Given the description of an element on the screen output the (x, y) to click on. 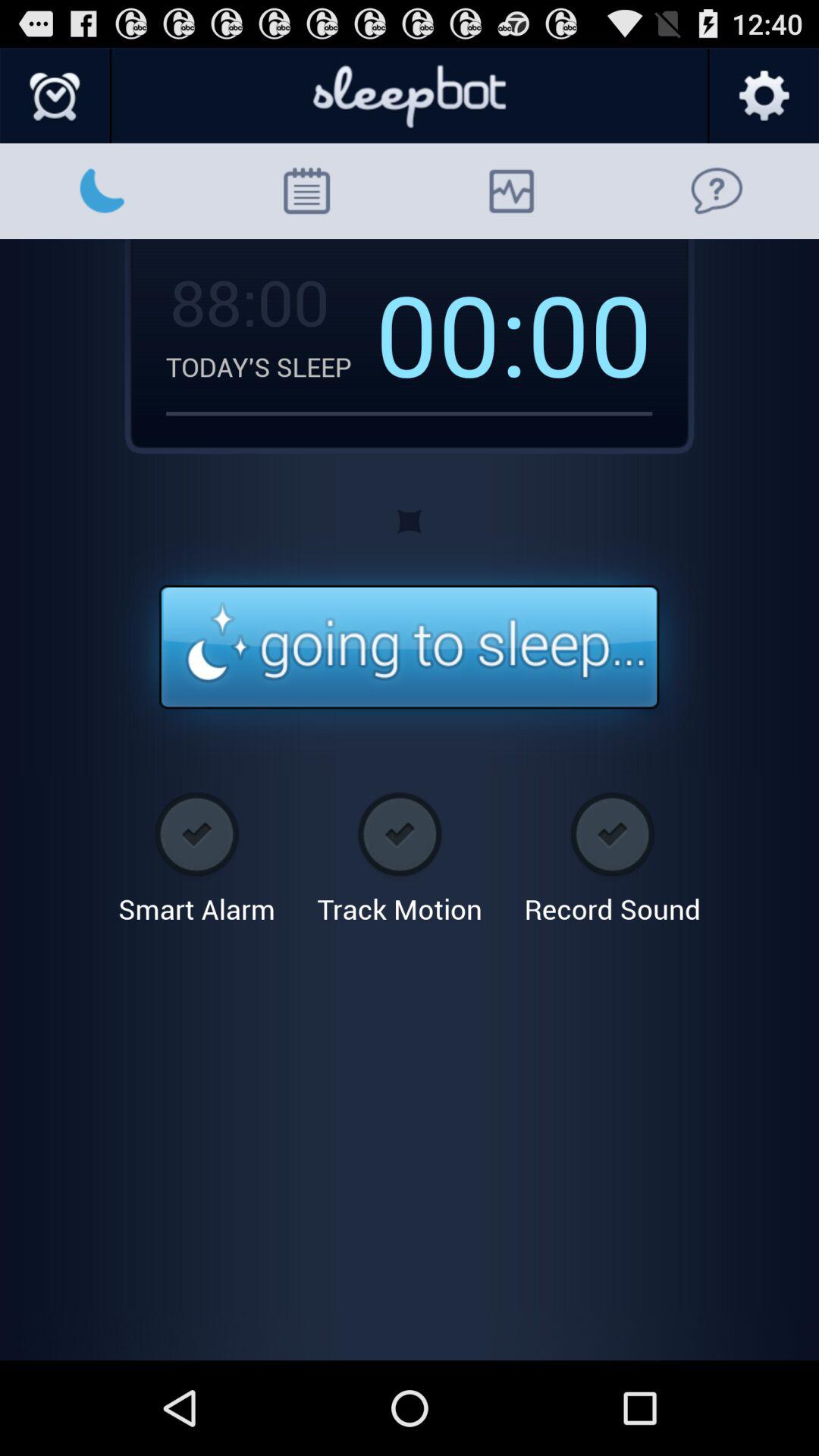
go to settings (763, 96)
